Given the description of an element on the screen output the (x, y) to click on. 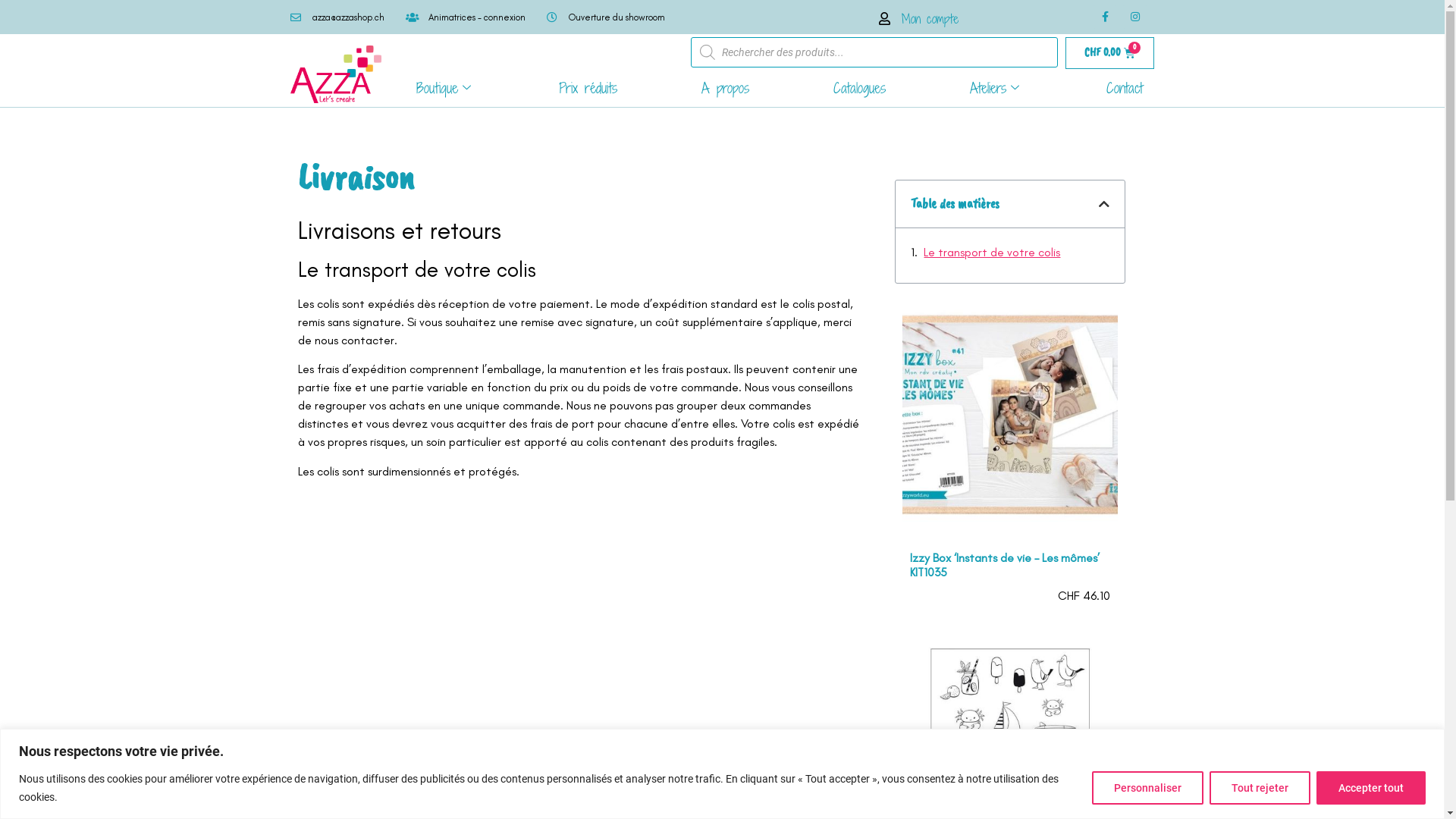
Personnaliser Element type: text (1147, 786)
Catalogues Element type: text (859, 87)
Animatrices - connexion Element type: text (465, 17)
Accepter tout Element type: text (1370, 786)
Contact Element type: text (1124, 87)
Mon compte Element type: text (915, 18)
Le transport de votre colis Element type: text (991, 252)
Boutique Element type: text (445, 87)
A propos Element type: text (725, 87)
Ouverture du showroom Element type: text (605, 17)
Tout rejeter Element type: text (1259, 786)
Ateliers Element type: text (996, 87)
CHF 0.00
0 Element type: text (1109, 53)
azza@azzashop.ch Element type: text (336, 17)
